Given the description of an element on the screen output the (x, y) to click on. 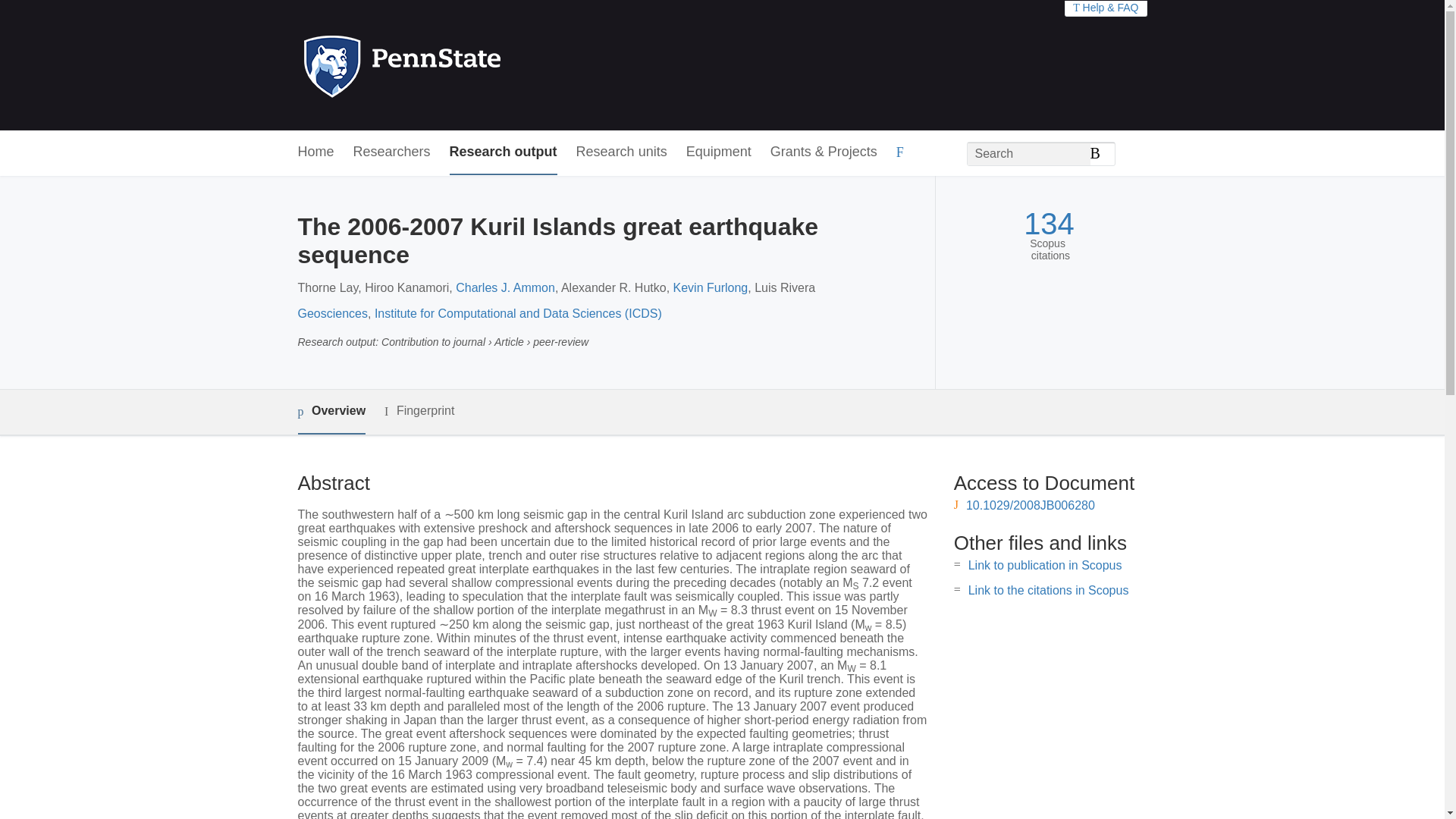
Fingerprint (419, 411)
Home (315, 152)
Kevin Furlong (710, 287)
Penn State Home (467, 65)
Research units (621, 152)
Link to publication in Scopus (1045, 564)
Research output (503, 152)
134 (1048, 223)
Link to the citations in Scopus (1048, 590)
Overview (331, 411)
Equipment (718, 152)
Researchers (391, 152)
Charles J. Ammon (504, 287)
Geosciences (332, 313)
